Given the description of an element on the screen output the (x, y) to click on. 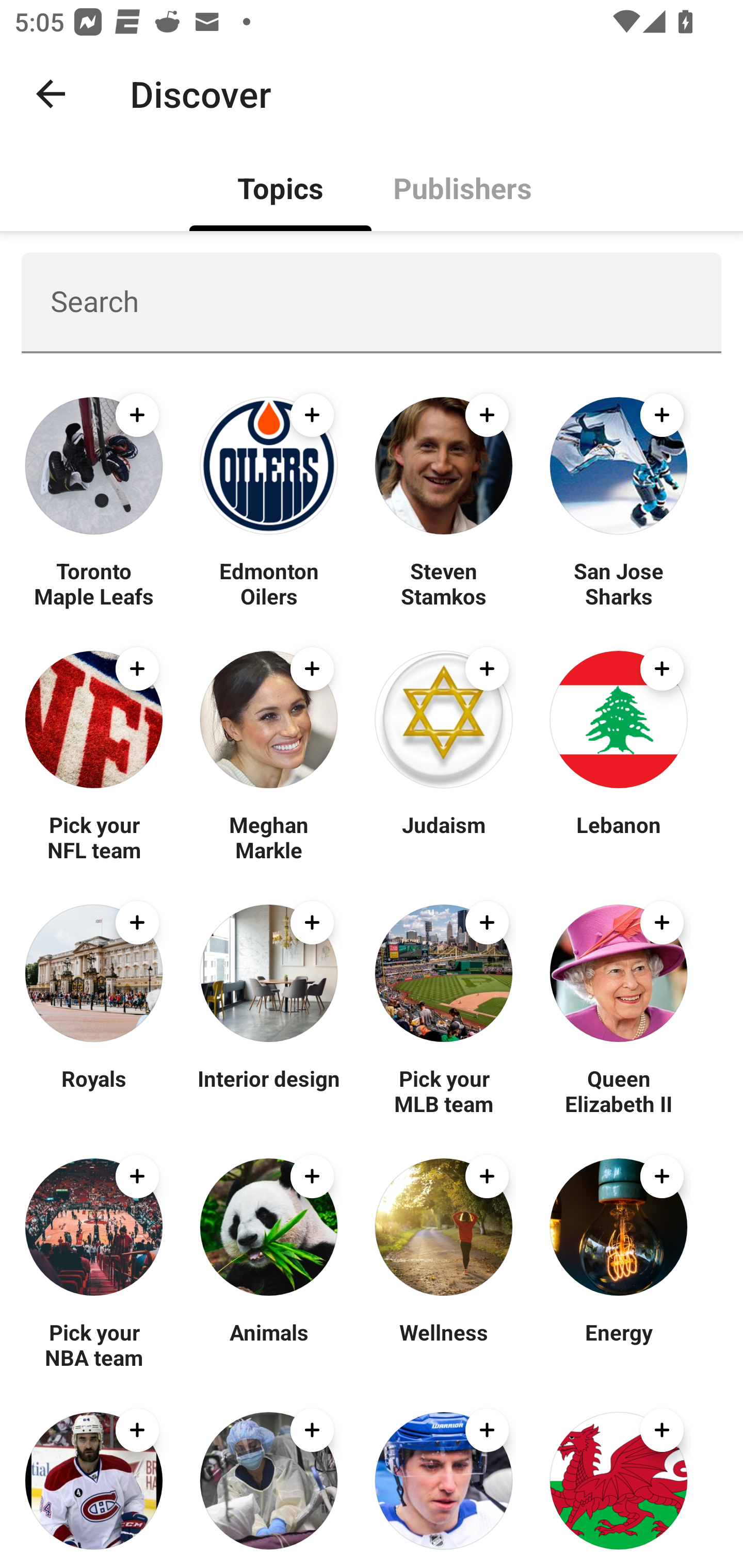
Publishers (462, 187)
Search (371, 302)
Toronto Maple Leafs (93, 582)
Edmonton Oilers (268, 582)
Steven Stamkos (443, 582)
San Jose Sharks (618, 582)
Pick your NFL team (93, 836)
Meghan Markle (268, 836)
Judaism (443, 836)
Lebanon (618, 836)
Royals (93, 1090)
Interior design (268, 1090)
Pick your MLB team (443, 1090)
Queen Elizabeth II (618, 1090)
Pick your NBA team (93, 1344)
Animals (268, 1344)
Wellness (443, 1344)
